Given the description of an element on the screen output the (x, y) to click on. 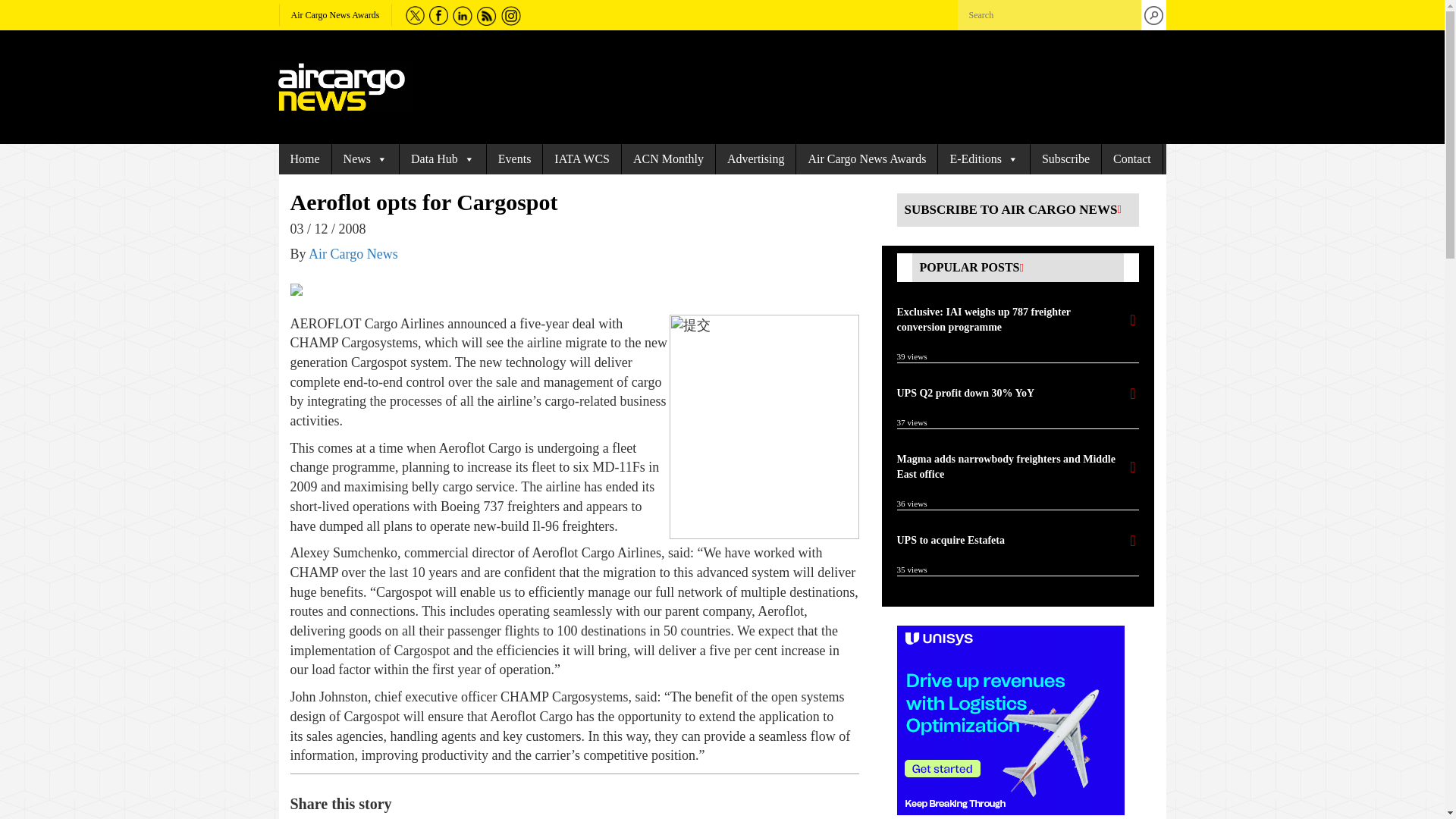
Home (305, 159)
3rd party ad content (786, 87)
Air Cargo News Awards (335, 14)
3rd party ad content (1010, 719)
News (364, 159)
